Given the description of an element on the screen output the (x, y) to click on. 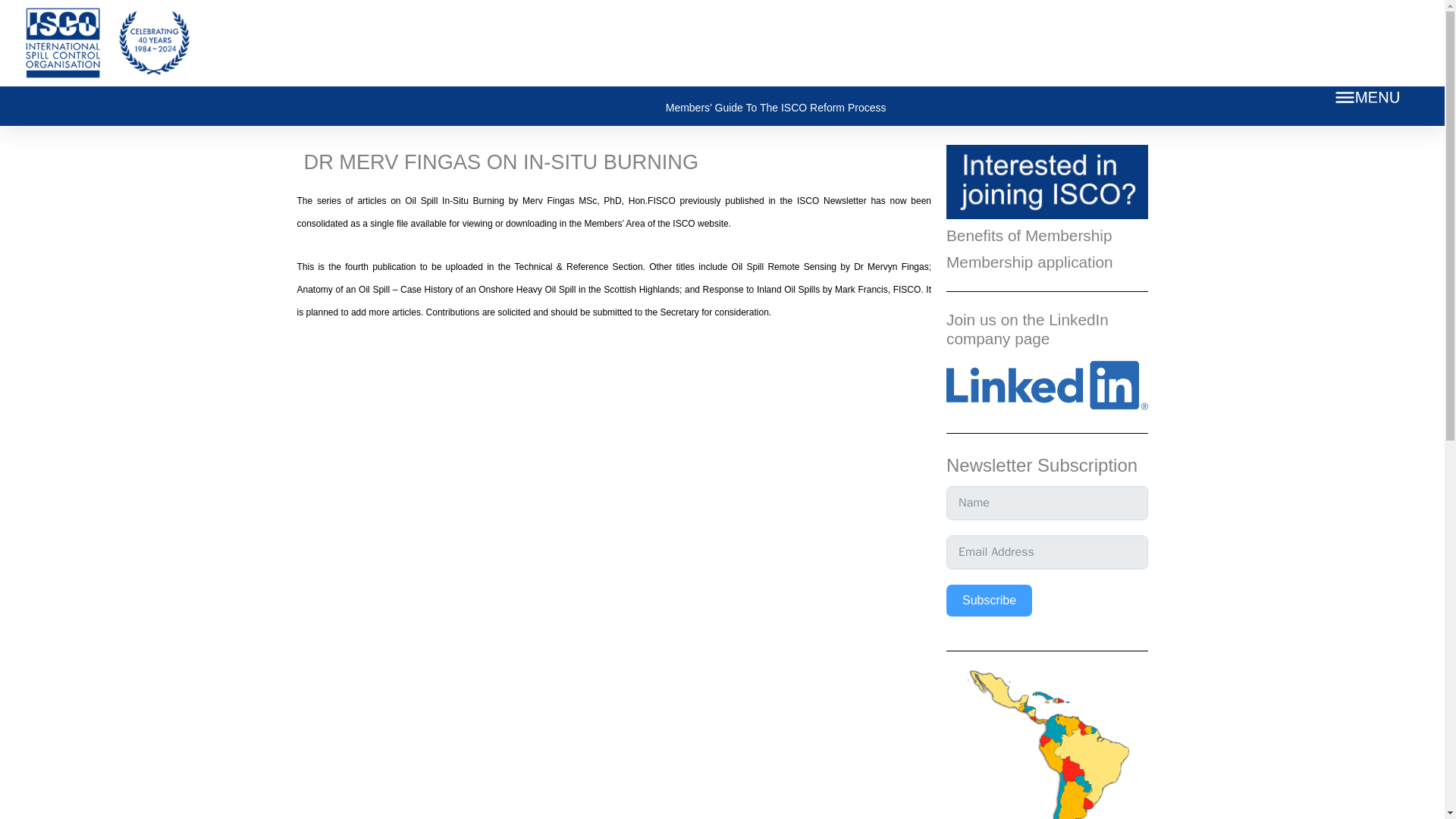
Benefits of Membership (1029, 235)
Join us on the LinkedIn company page (1027, 329)
Membership application (1029, 262)
Subscribe (989, 600)
